Given the description of an element on the screen output the (x, y) to click on. 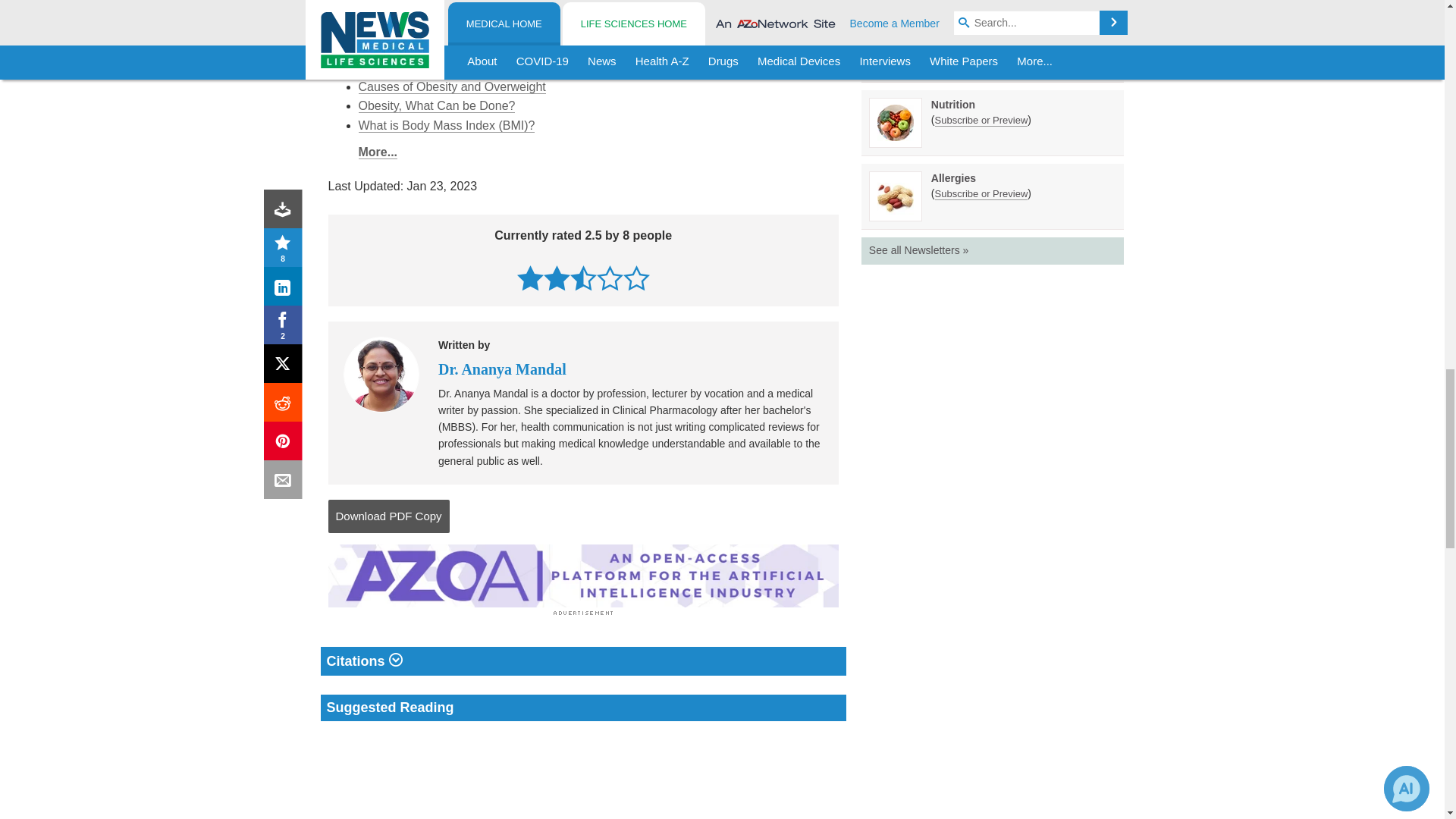
Rate this 4 stars out of 5 (609, 277)
Rate this 3 stars out of 5 (583, 277)
Rate this 5 stars out of 5 (636, 277)
